Given the description of an element on the screen output the (x, y) to click on. 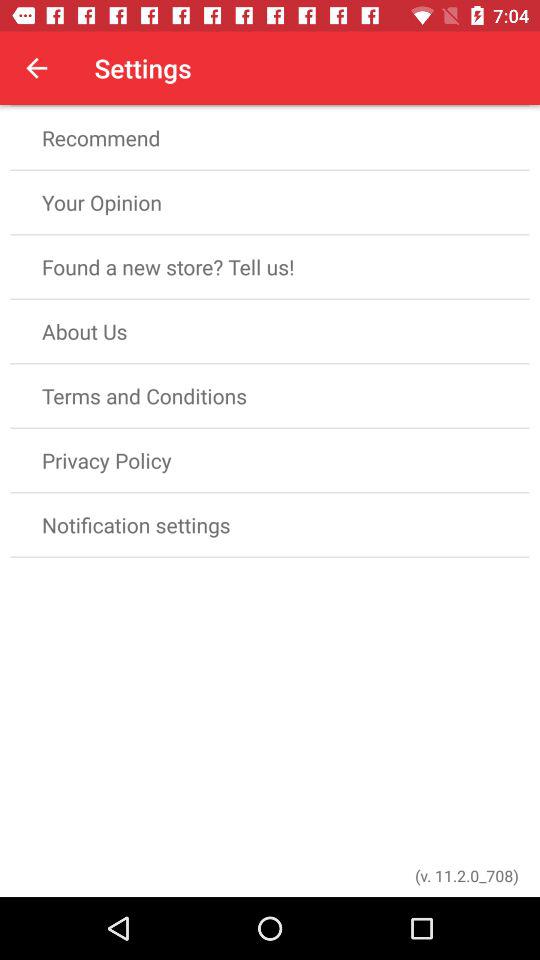
tap privacy policy (269, 460)
